Given the description of an element on the screen output the (x, y) to click on. 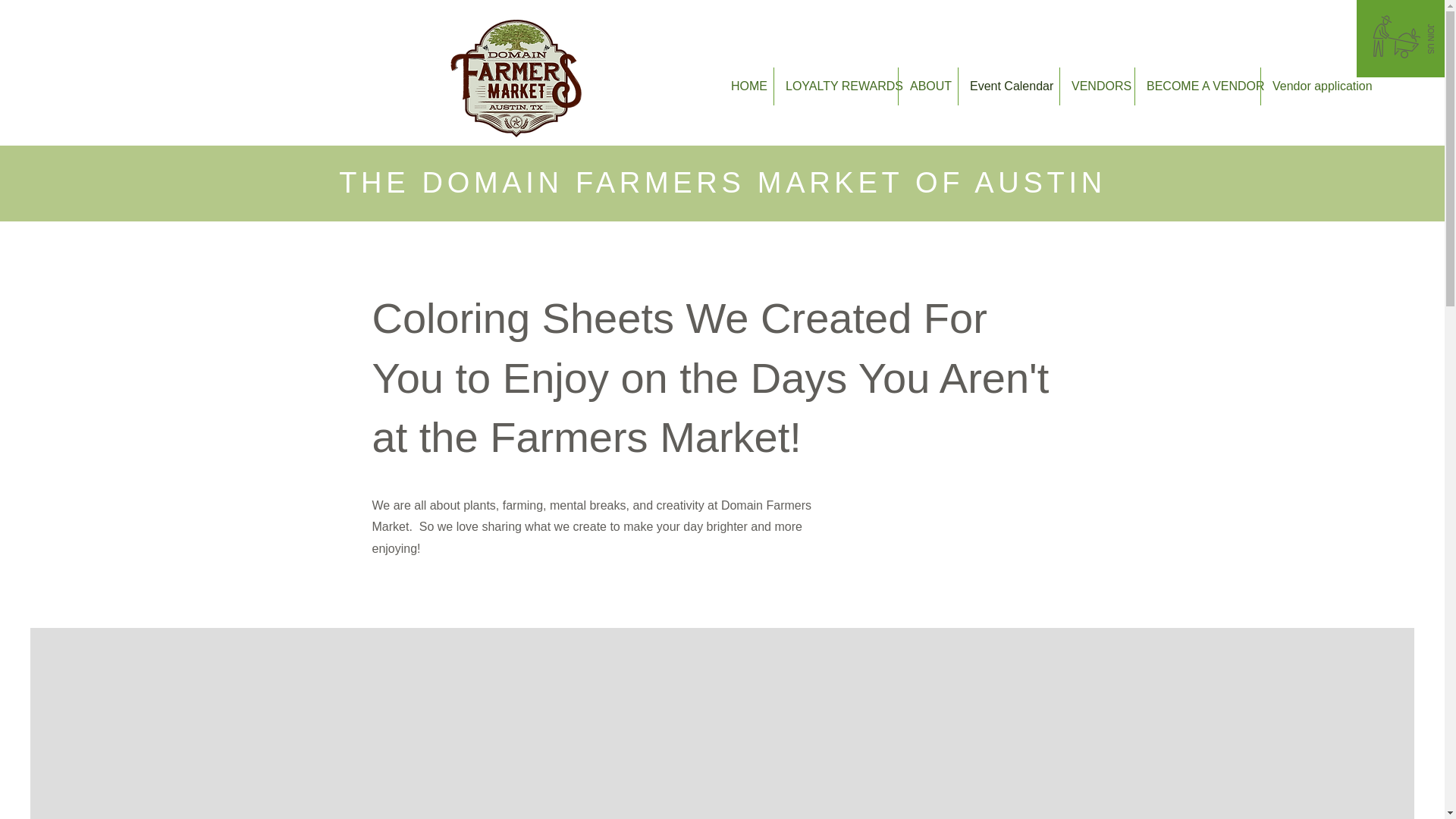
LOYALTY REWARDS (836, 86)
Event Calendar (1008, 86)
VENDORS (1096, 86)
HOME (746, 86)
BECOME A VENDOR (1197, 86)
ABOUT (928, 86)
